Given the description of an element on the screen output the (x, y) to click on. 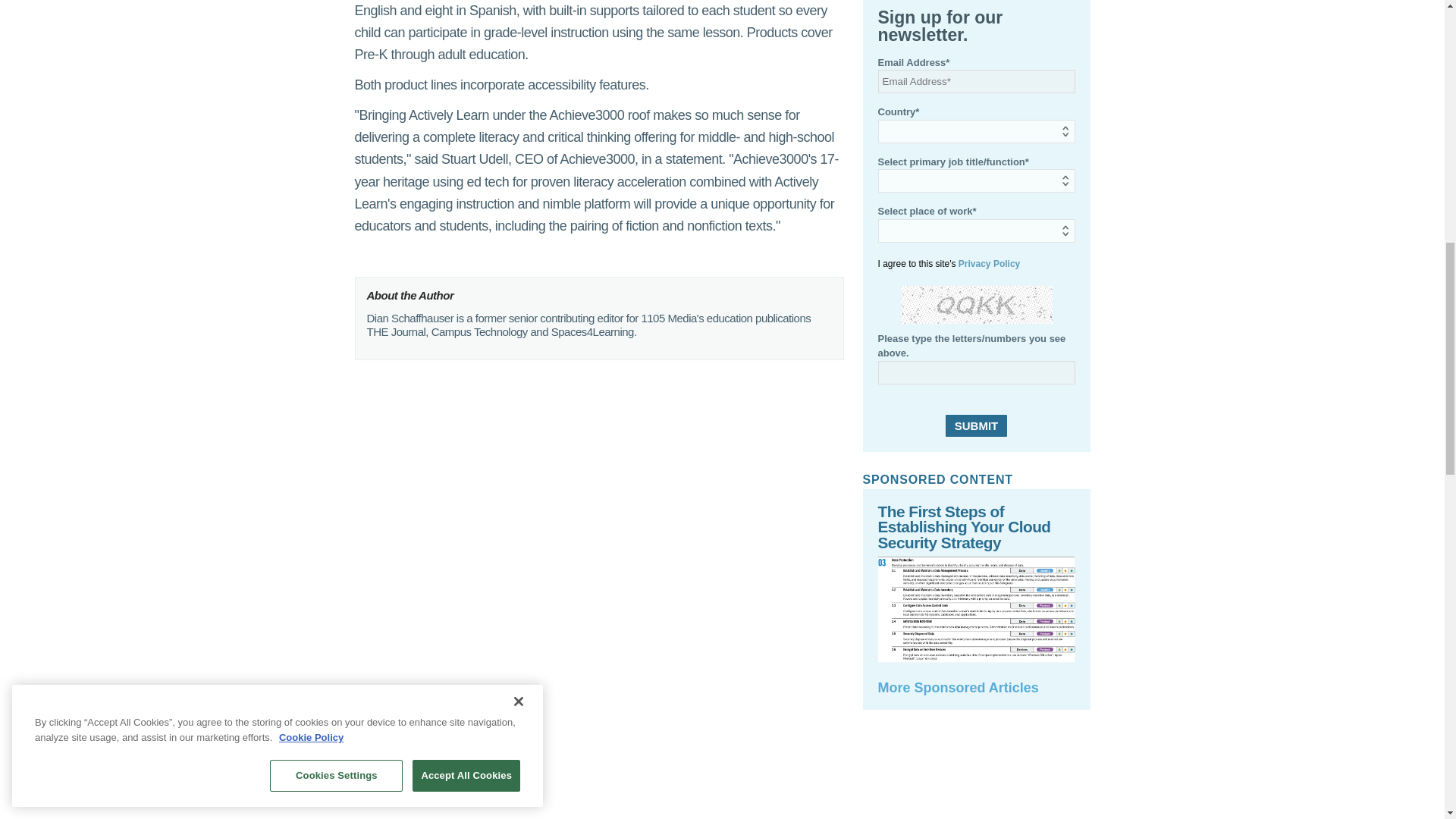
3rd party ad content (975, 775)
Submit (975, 425)
